Given the description of an element on the screen output the (x, y) to click on. 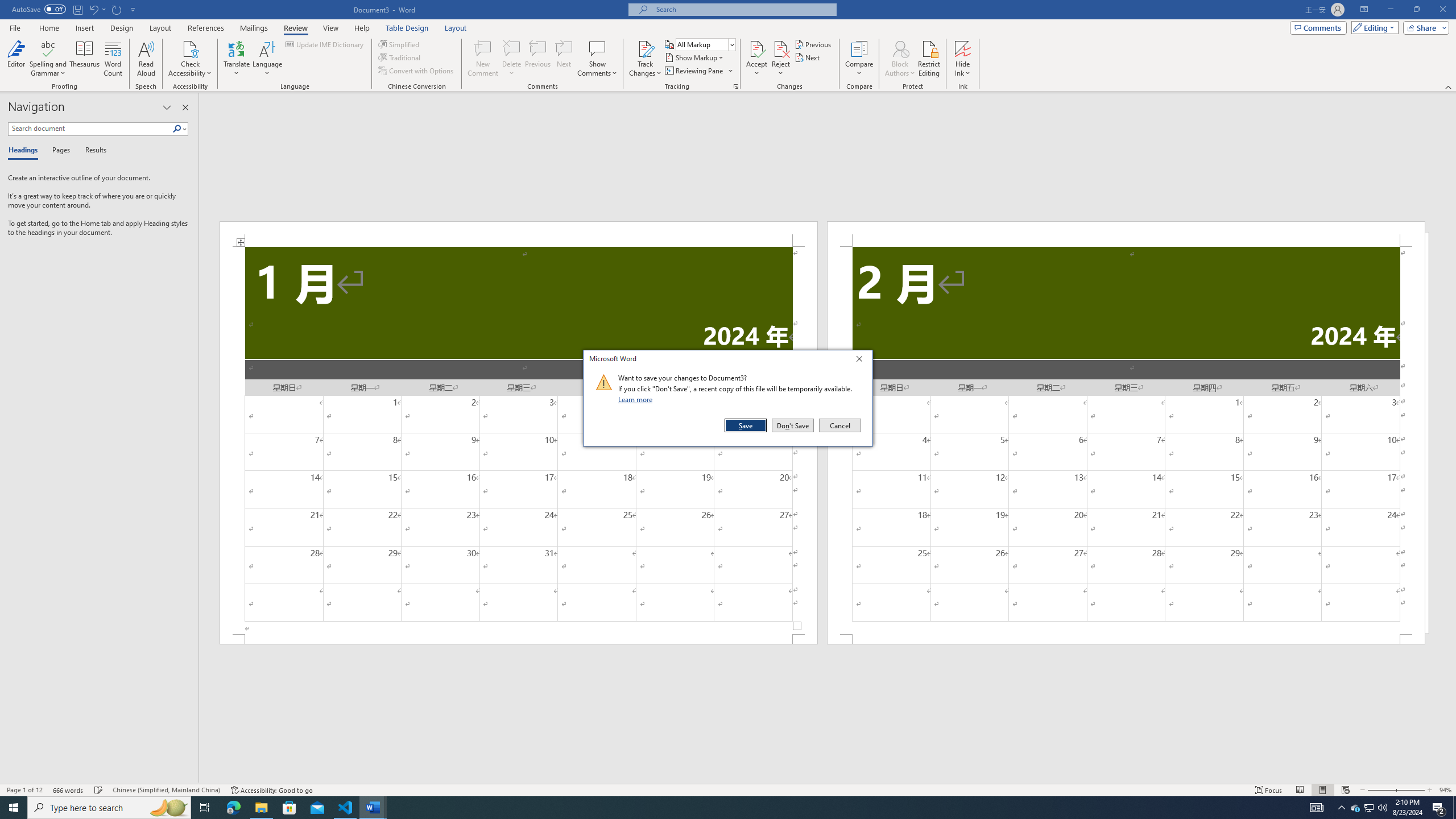
View (330, 28)
Collapse the Ribbon (1448, 86)
Web Layout (1344, 790)
Simplified (400, 44)
User Promoted Notification Area (1368, 807)
Ribbon Display Options (1364, 9)
Results (91, 150)
Print Layout (1322, 790)
Block Authors (900, 48)
Search (179, 128)
Word Count (113, 58)
Table Design (407, 28)
